Given the description of an element on the screen output the (x, y) to click on. 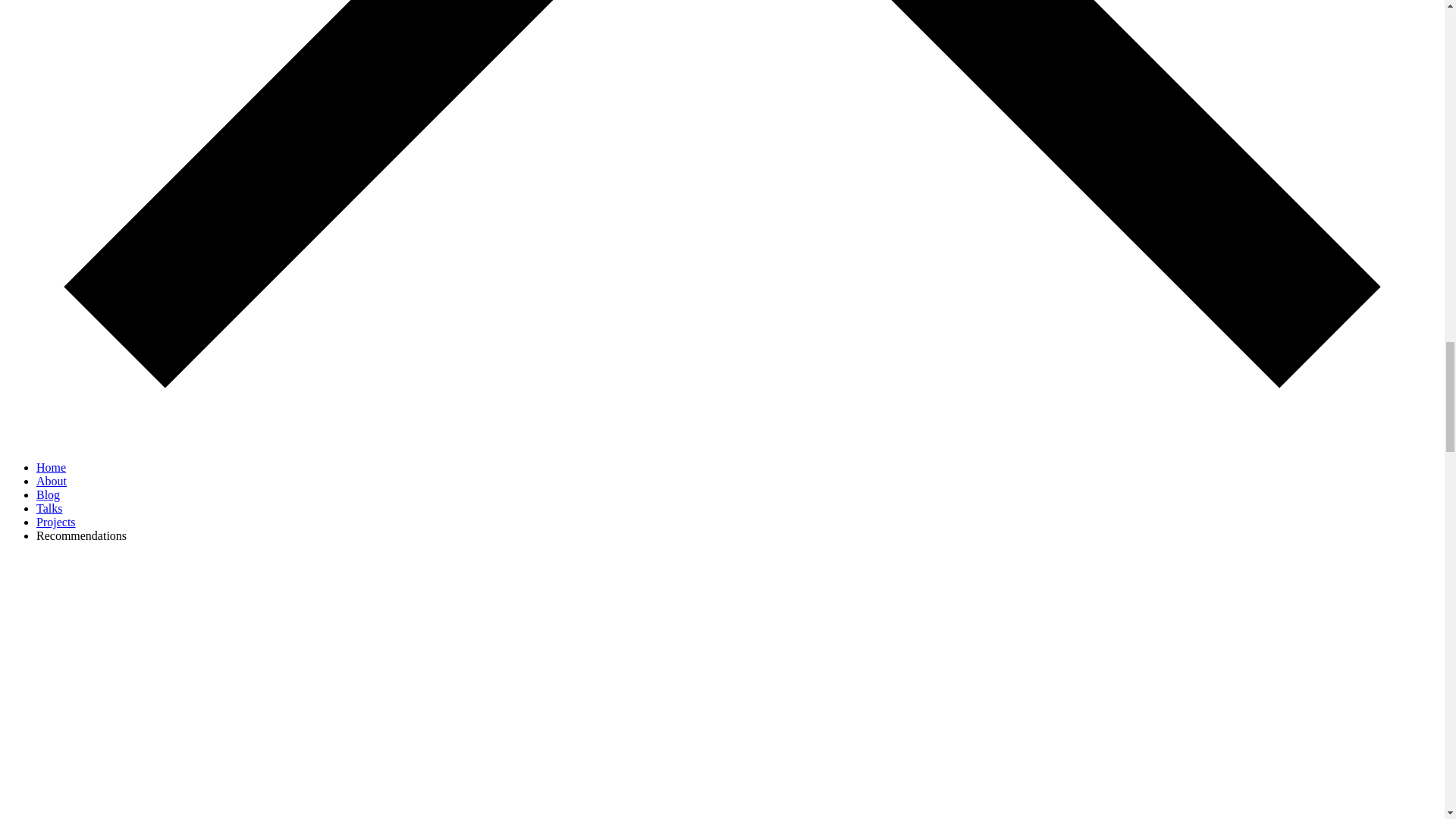
Blog (47, 494)
Projects (55, 521)
Home (50, 467)
Talks (49, 508)
About (51, 481)
